Given the description of an element on the screen output the (x, y) to click on. 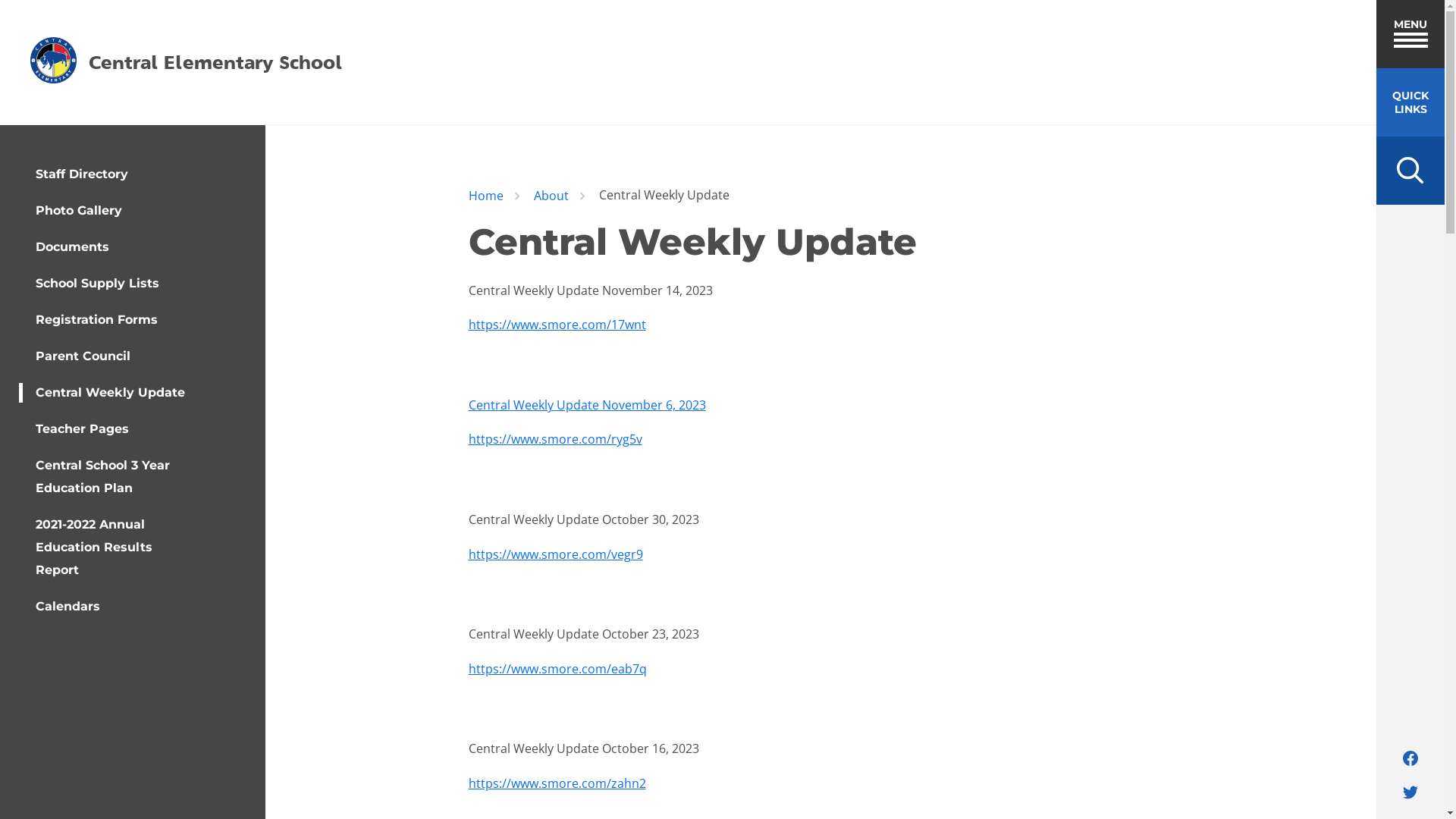
https://www.smore.com/ryg5v Element type: text (555, 438)
https://www.smore.com/vegr9 Element type: text (555, 554)
School Supply Lists Element type: text (97, 283)
Calendars Element type: text (67, 606)
QUICK LINKS Element type: text (1410, 102)
Central Weekly Update November 6, 2023 Element type: text (587, 404)
MENU Element type: text (1410, 34)
Facebook Element type: text (1410, 757)
About Element type: text (550, 196)
Central School 3 Year Education Plan Element type: text (110, 476)
Documents Element type: text (72, 246)
https://www.smore.com/17wnt Element type: text (557, 324)
Twitter Element type: text (1410, 792)
Home Element type: text (485, 196)
Central Weekly Update Element type: text (110, 392)
Parent Council Element type: text (82, 356)
home Element type: hover (53, 62)
Registration Forms Element type: text (96, 319)
https://www.smore.com/eab7q Element type: text (557, 668)
Staff Directory Element type: text (81, 174)
Photo Gallery Element type: text (78, 210)
2021-2022 Annual Education Results Report Element type: text (110, 547)
https://www.smore.com/zahn2 Element type: text (557, 783)
Teacher Pages Element type: text (81, 428)
